Given the description of an element on the screen output the (x, y) to click on. 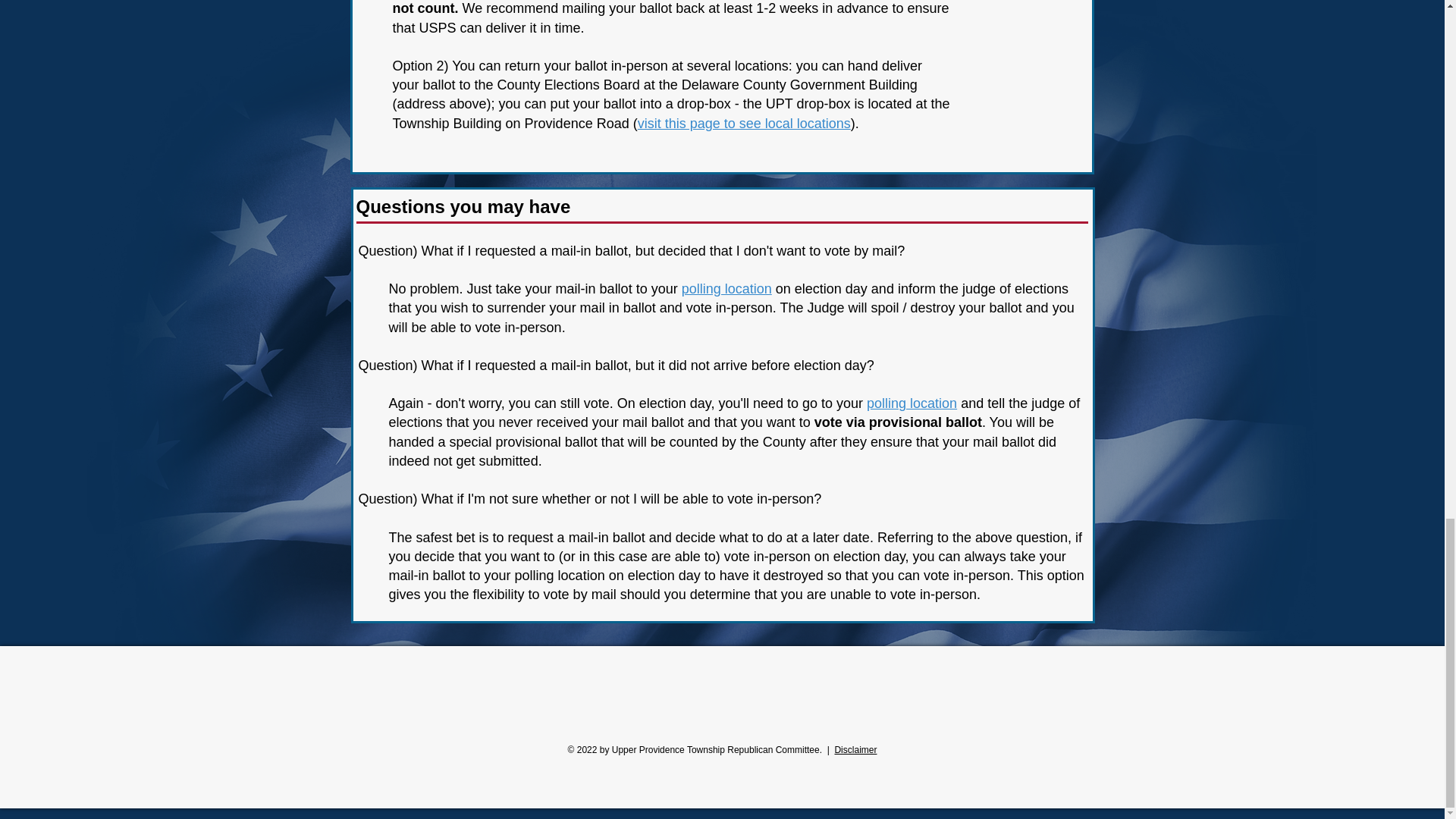
polling location (911, 403)
polling location (726, 288)
Disclaimer (855, 749)
visit this page to see local locations (743, 123)
